Given the description of an element on the screen output the (x, y) to click on. 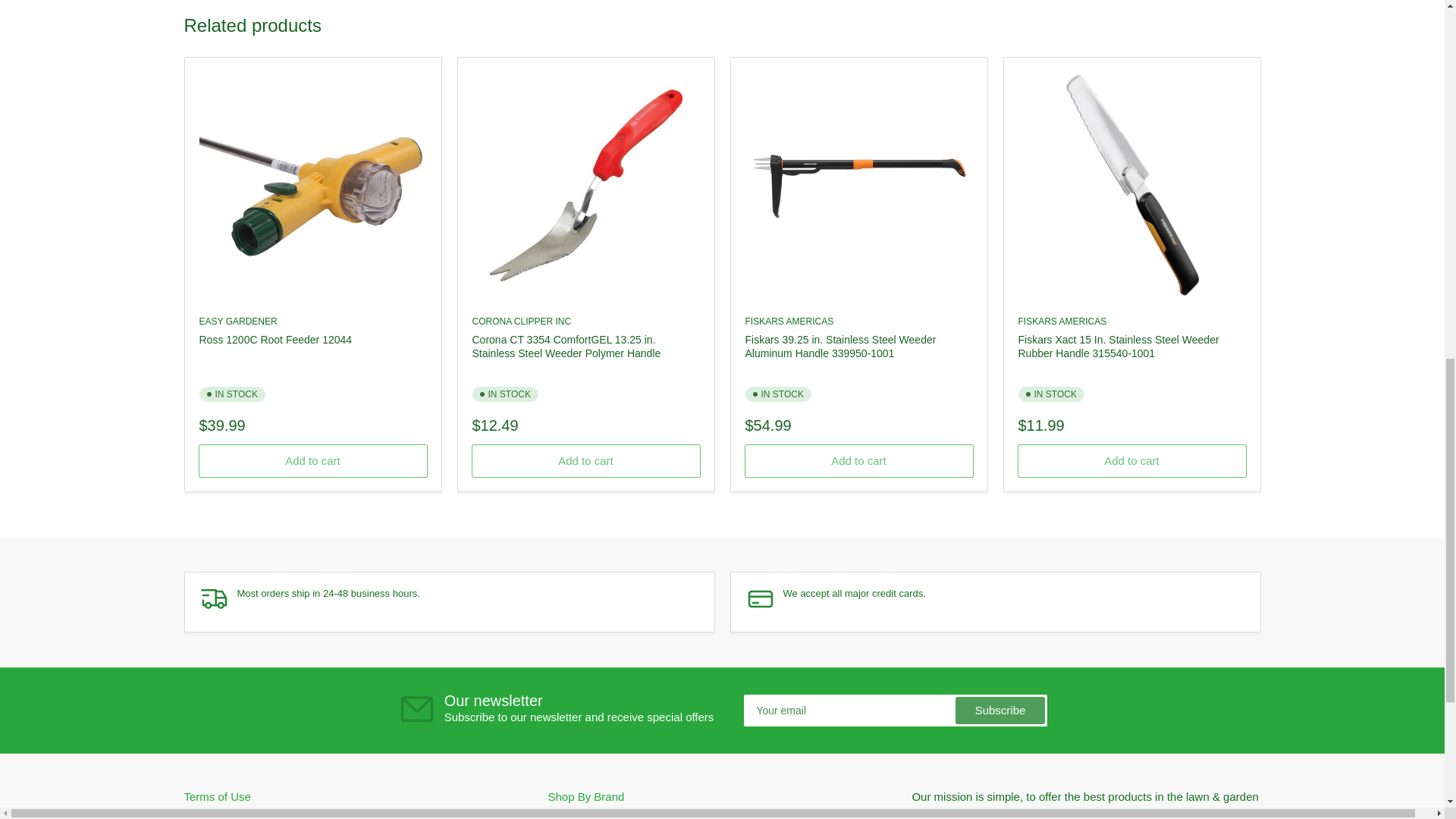
Fiskars Americas (788, 321)
Corona Clipper Inc (520, 321)
Terms of Use (216, 796)
Shop By Brand (585, 796)
Fiskars Americas (1061, 321)
